Given the description of an element on the screen output the (x, y) to click on. 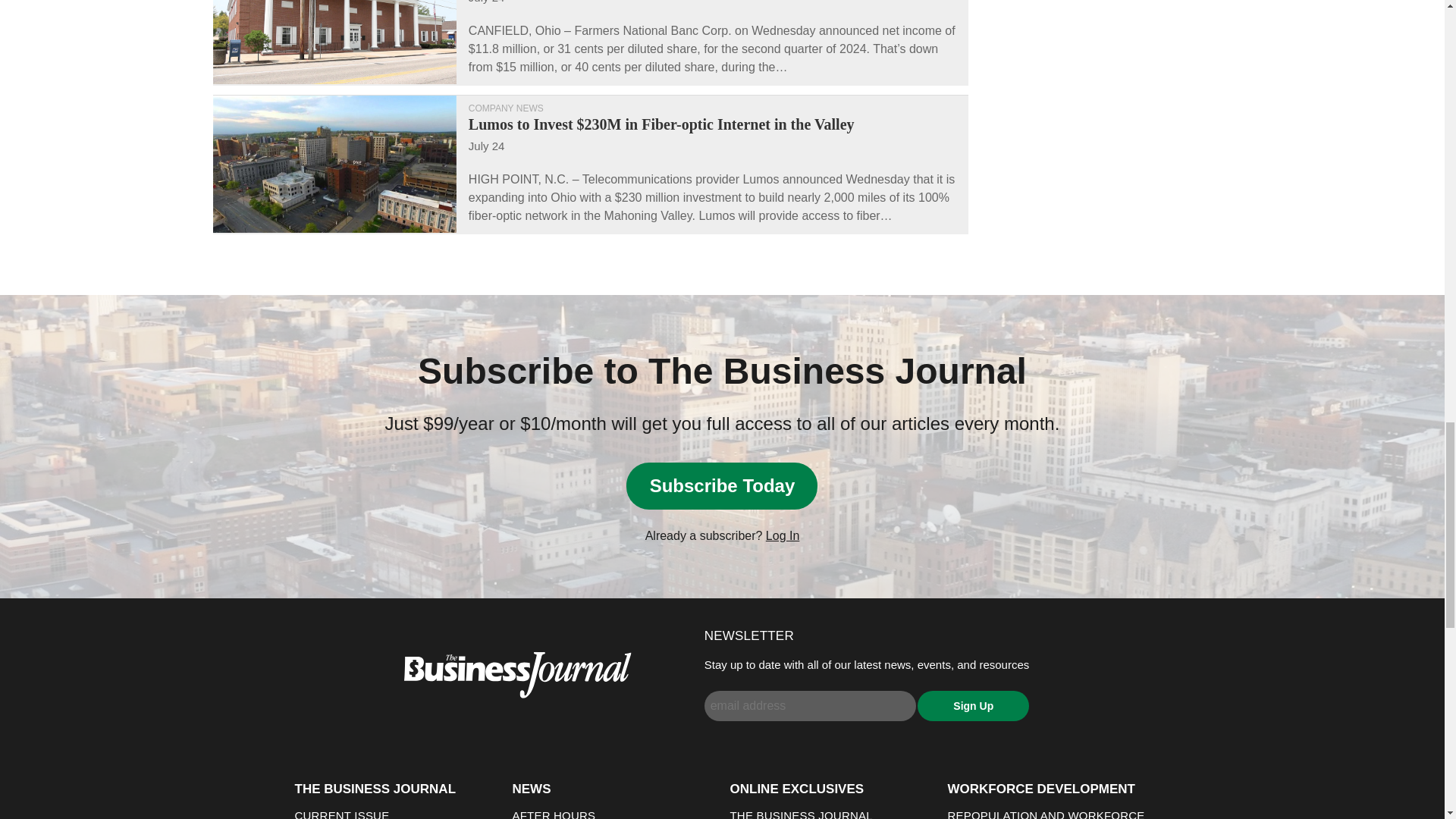
Sign Up (973, 706)
